Given the description of an element on the screen output the (x, y) to click on. 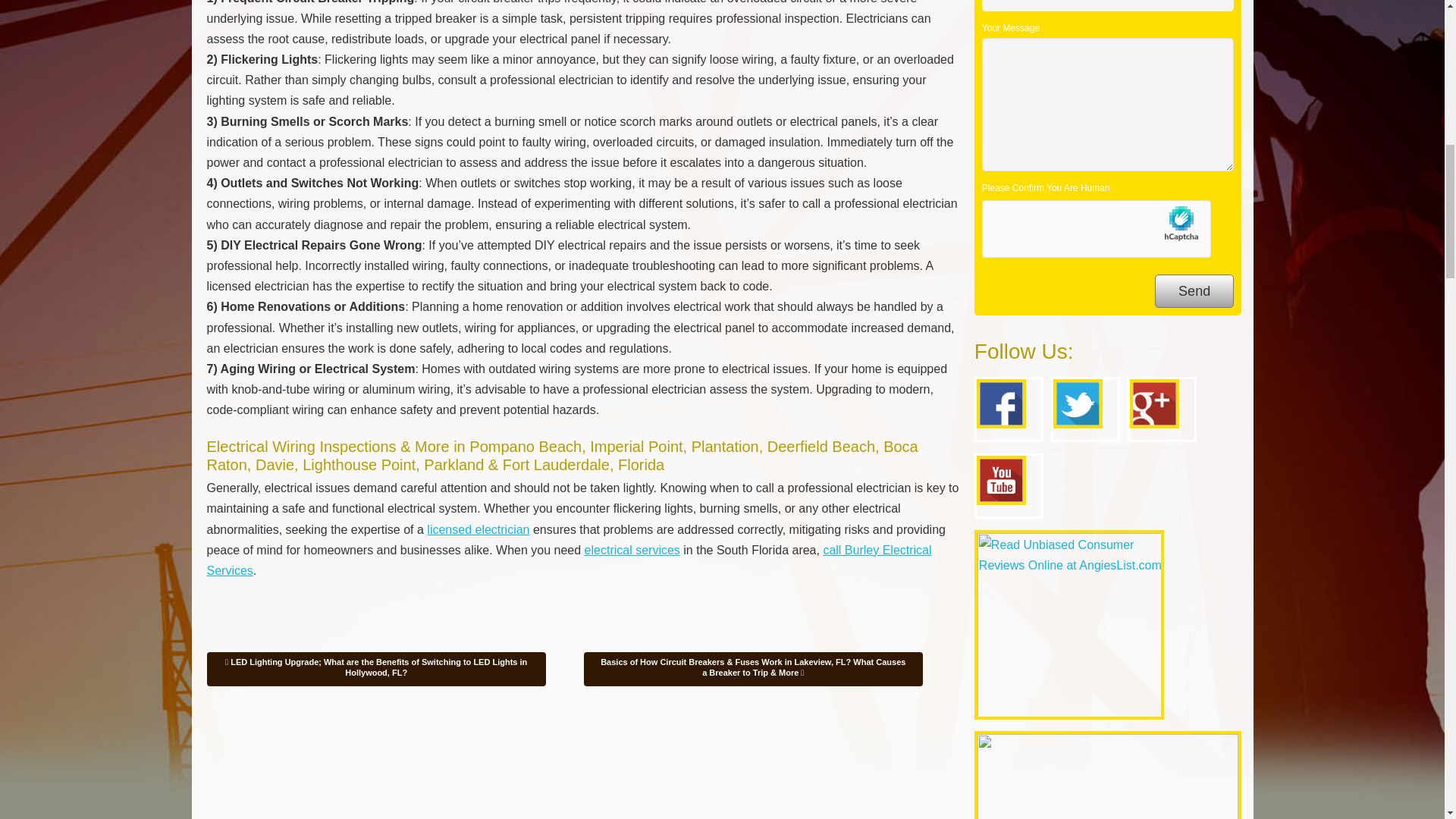
Send (1193, 291)
